Given the description of an element on the screen output the (x, y) to click on. 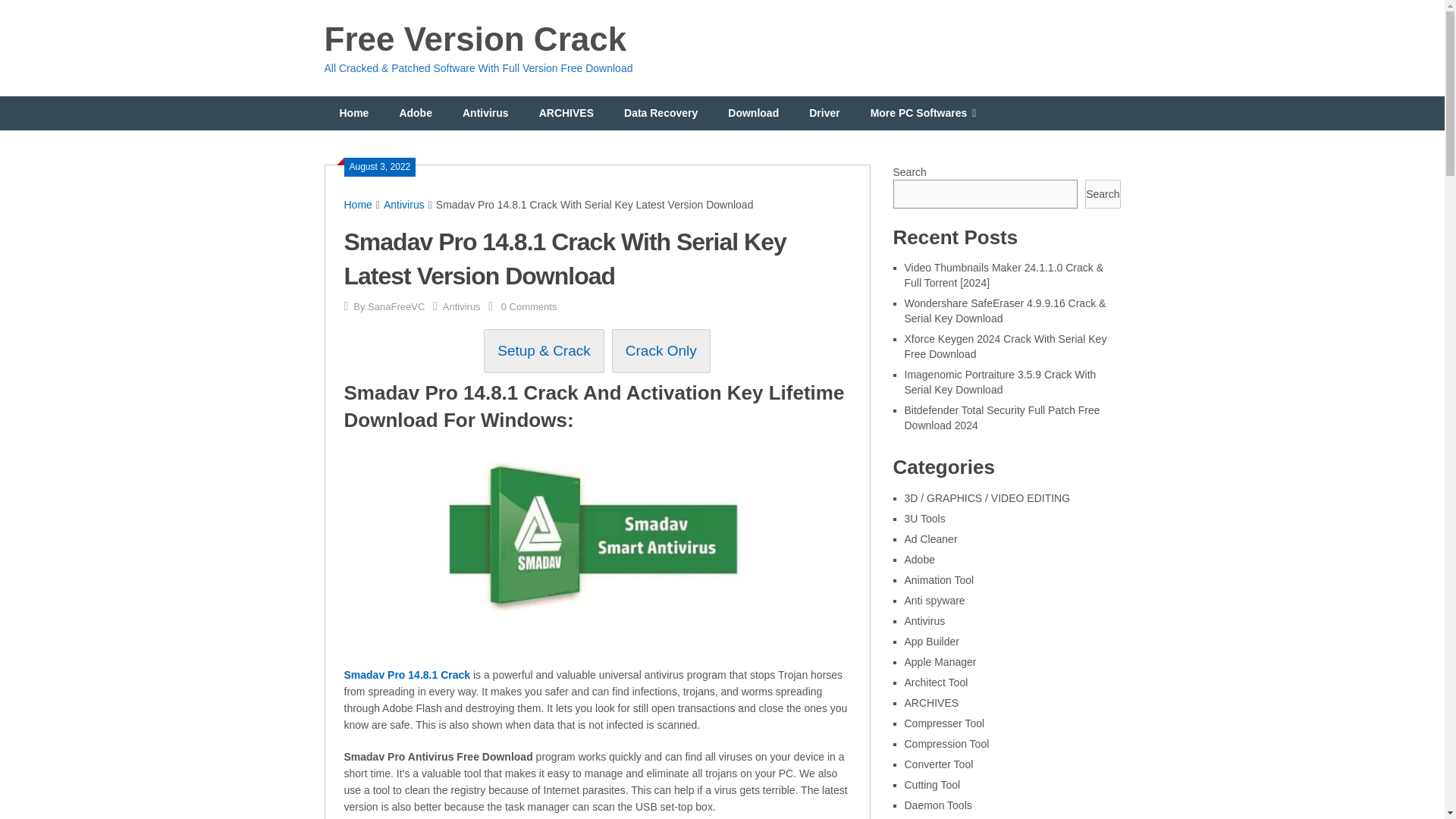
Adobe (415, 113)
Download (753, 113)
Home (354, 113)
Antivirus (485, 113)
Posts by SanaFreeVC (396, 306)
SanaFreeVC (396, 306)
Data Recovery (660, 113)
Driver (823, 113)
Antivirus (404, 204)
ARCHIVES (566, 113)
Home (357, 204)
More PC Softwares (923, 113)
Free Version Crack (475, 38)
